Given the description of an element on the screen output the (x, y) to click on. 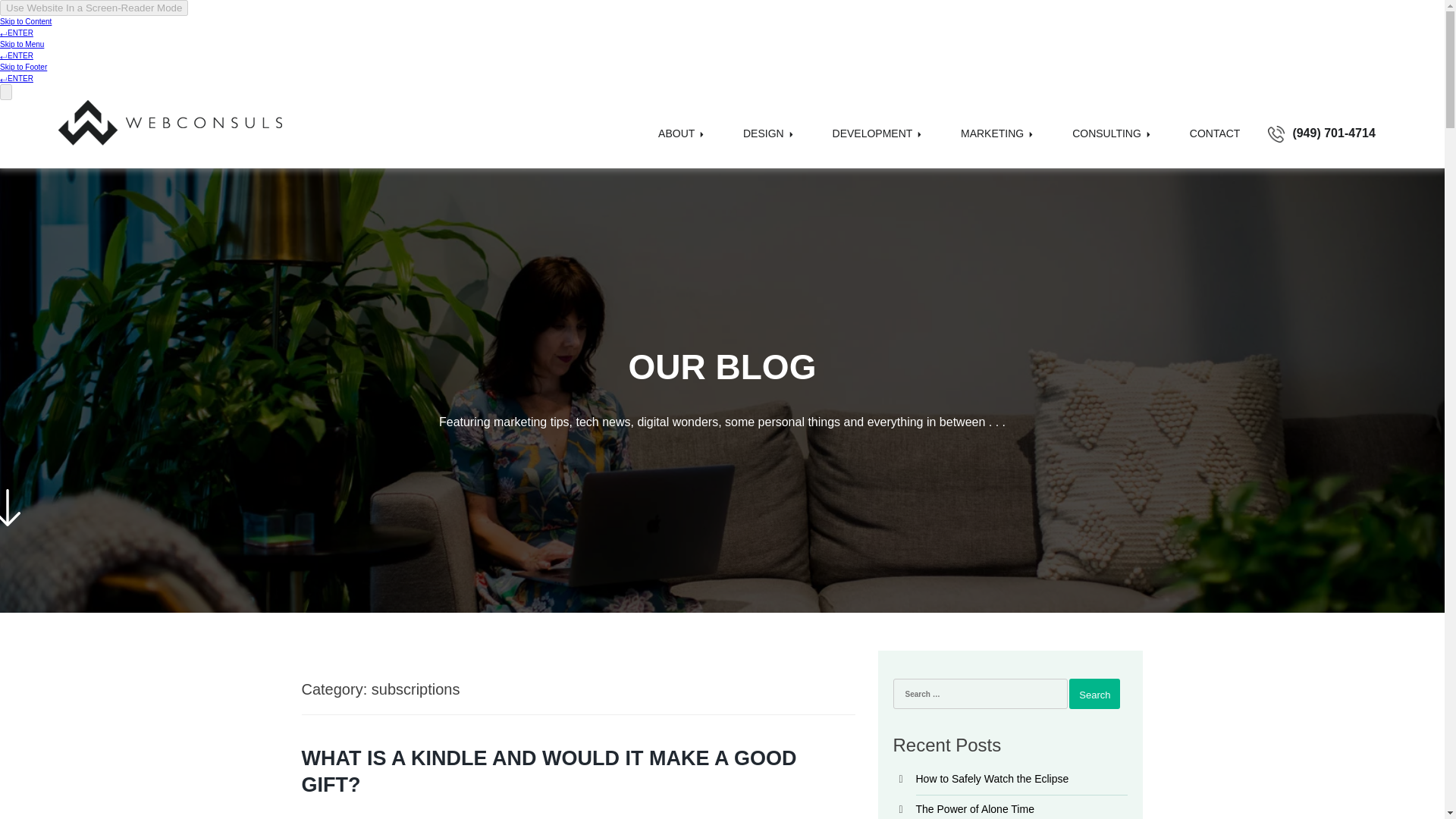
MARKETING (997, 144)
DESIGN (769, 144)
CONSULTING (1112, 144)
ABOUT (681, 144)
Search (1093, 693)
DEVELOPMENT (877, 144)
Search (1093, 693)
